Given the description of an element on the screen output the (x, y) to click on. 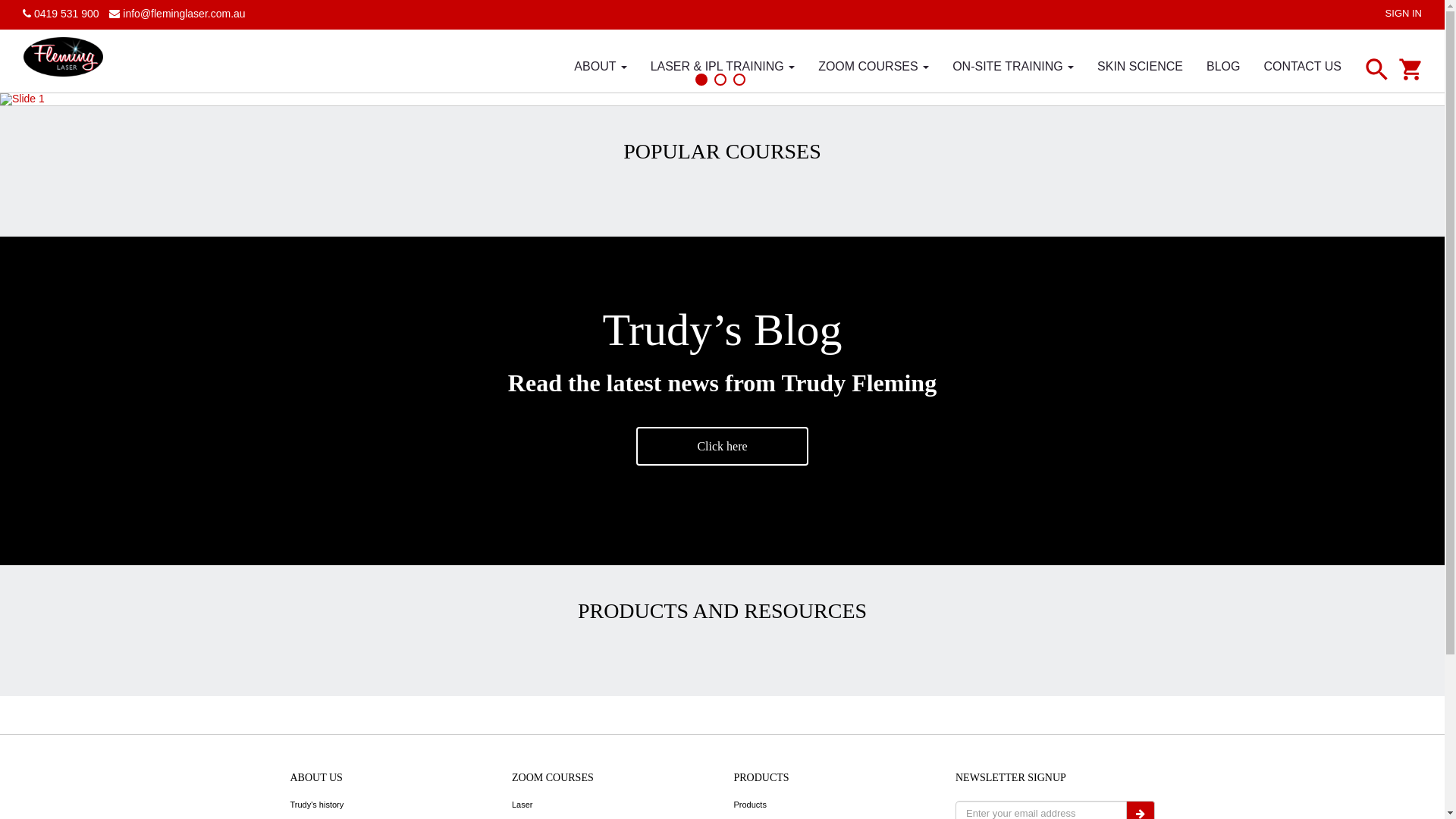
info@fleminglaser.com.au Element type: text (176, 13)
ZOOM COURSES Element type: text (873, 65)
BLOG Element type: text (1223, 65)
ABOUT Element type: text (599, 65)
Products Element type: text (750, 804)
ON-SITE TRAINING Element type: text (1013, 65)
Click here Element type: text (721, 445)
CONTACT US Element type: text (1302, 65)
SKIN SCIENCE Element type: text (1139, 65)
Laser Element type: text (522, 804)
Fleming Laser Element type: hover (63, 56)
LASER & IPL TRAINING Element type: text (722, 65)
0419 531 900 Element type: text (60, 13)
sign up Element type: text (721, 296)
SIGN IN Element type: text (1403, 13)
Trudy's history Element type: text (316, 804)
